Given the description of an element on the screen output the (x, y) to click on. 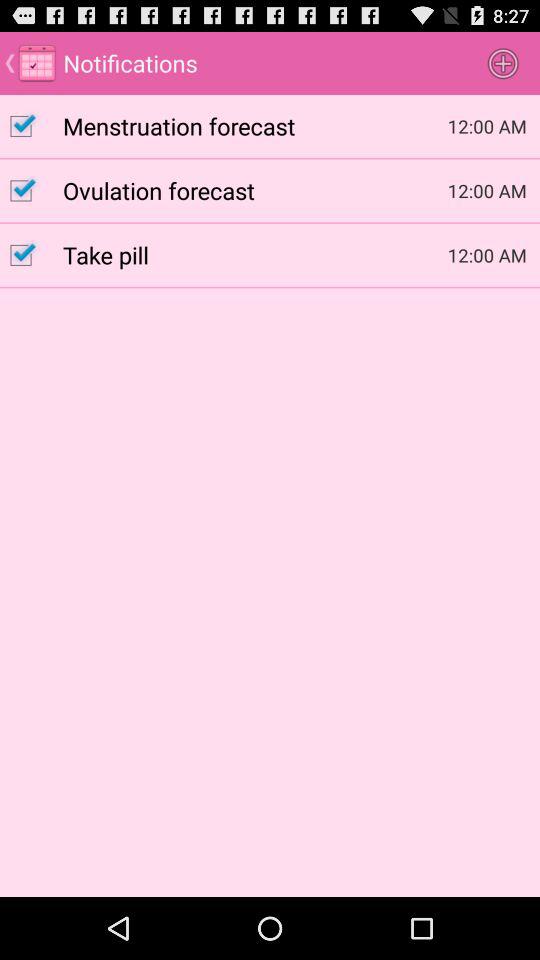
turn off item to the left of 12:00 am item (255, 125)
